Given the description of an element on the screen output the (x, y) to click on. 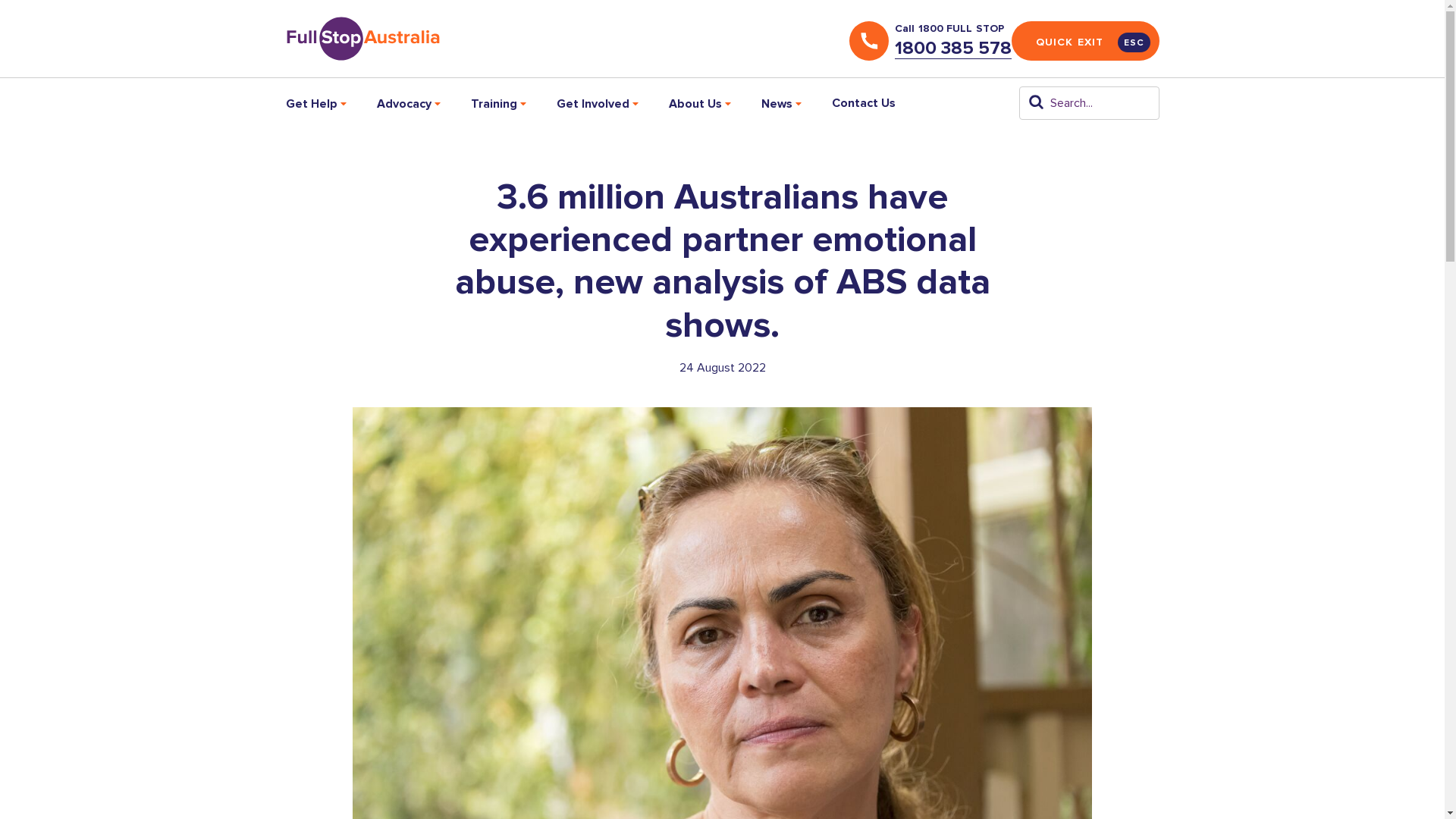
Search site Element type: text (1035, 101)
QUICK EXIT ESC Element type: text (1085, 40)
Contact Us Element type: text (862, 102)
Get Involved Element type: text (597, 102)
News Element type: text (781, 102)
About Us Element type: text (699, 102)
Advocacy Element type: text (407, 102)
Training Element type: text (497, 102)
Get Help Element type: text (322, 102)
1800 385 578 Element type: text (952, 48)
